Given the description of an element on the screen output the (x, y) to click on. 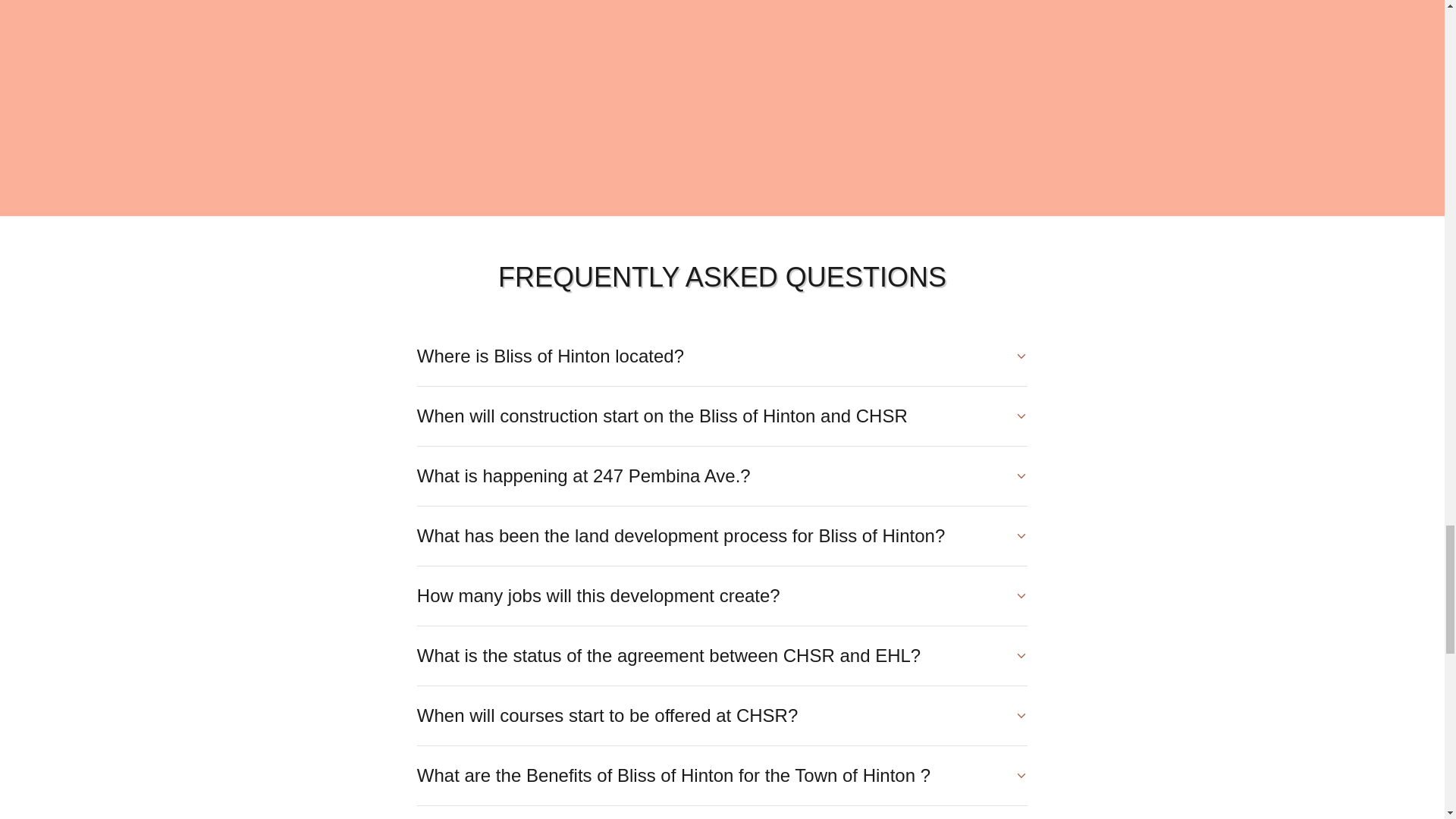
When will courses start to be offered at CHSR? (721, 715)
How many jobs will this development create? (721, 595)
What is the status of the agreement between CHSR and EHL? (721, 655)
What is happening at 247 Pembina Ave.? (721, 475)
When will construction start on the Bliss of Hinton and CHSR (721, 416)
Where is Bliss of Hinton located? (721, 356)
